Given the description of an element on the screen output the (x, y) to click on. 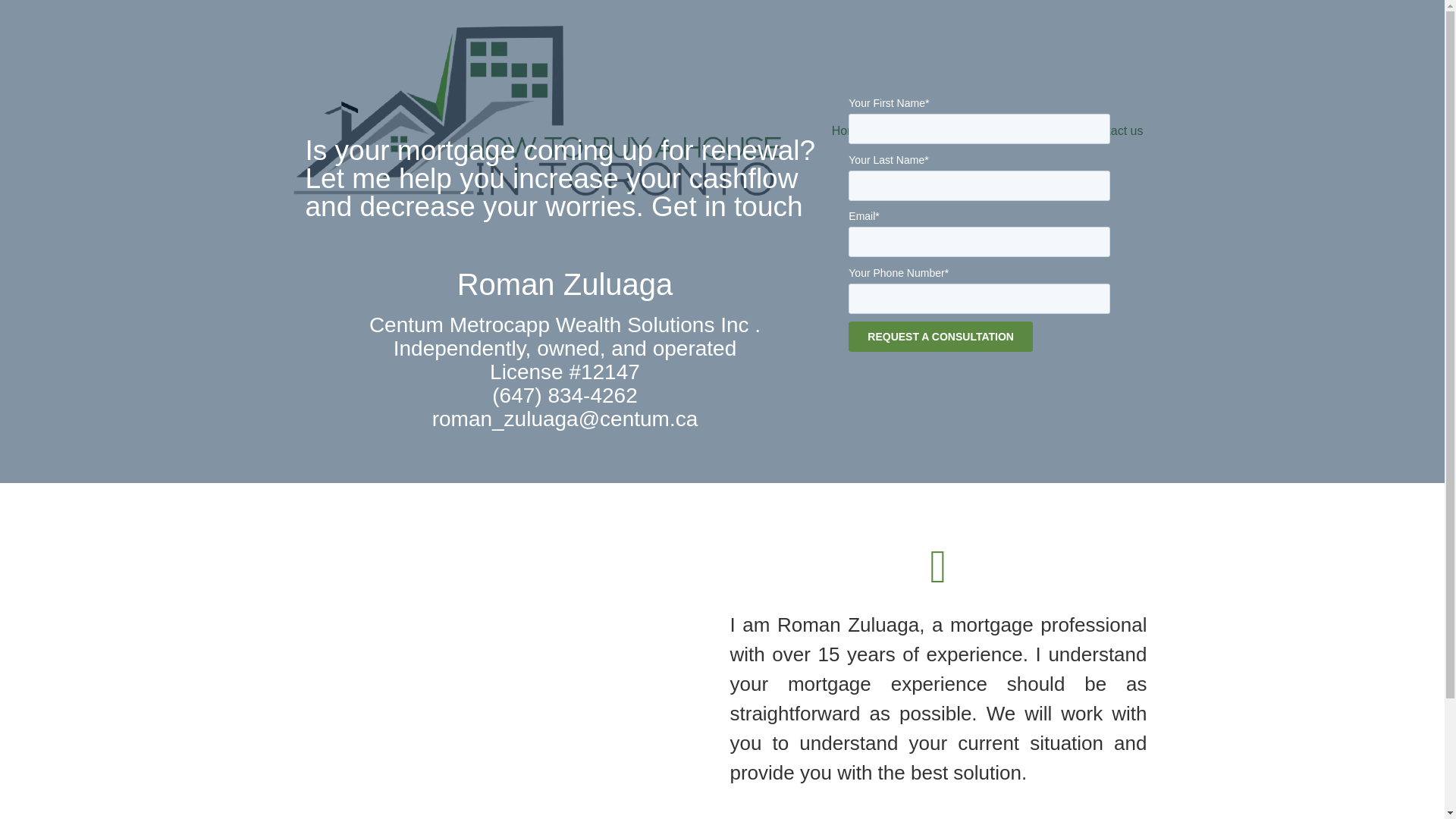
About us (909, 131)
Home (848, 131)
REQUEST A CONSULTATION (940, 336)
Contact us (1114, 131)
Blog (1050, 131)
Services (980, 131)
REQUEST A CONSULTATION (940, 336)
